Given the description of an element on the screen output the (x, y) to click on. 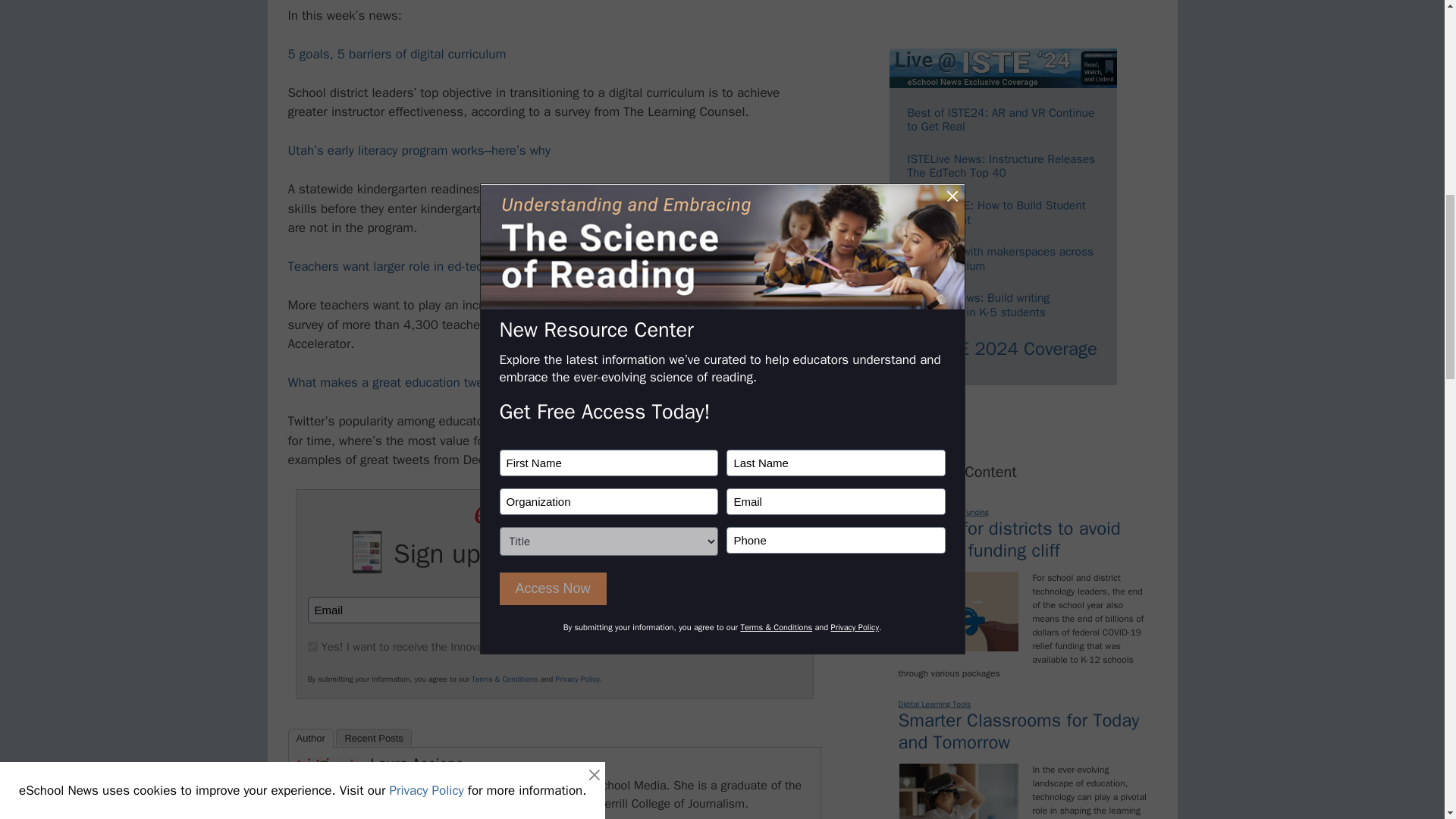
SUBSCRIBE (727, 610)
100 (312, 646)
